Given the description of an element on the screen output the (x, y) to click on. 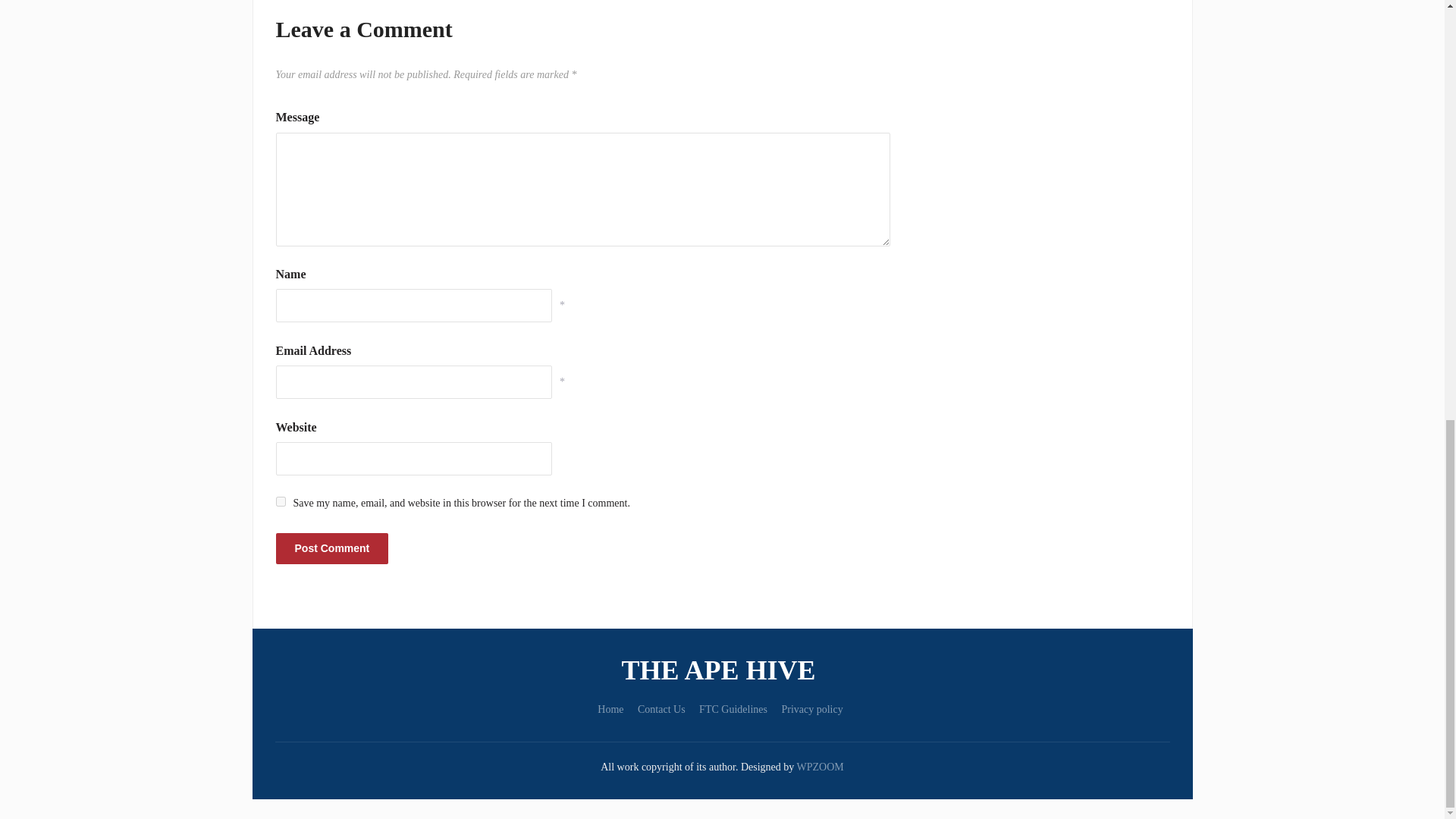
WPZOOM WordPress Themes (820, 767)
Post Comment (332, 548)
Home (609, 708)
THE APE HIVE (721, 669)
yes (280, 501)
Contact Us (661, 708)
Post Comment (332, 548)
